Given the description of an element on the screen output the (x, y) to click on. 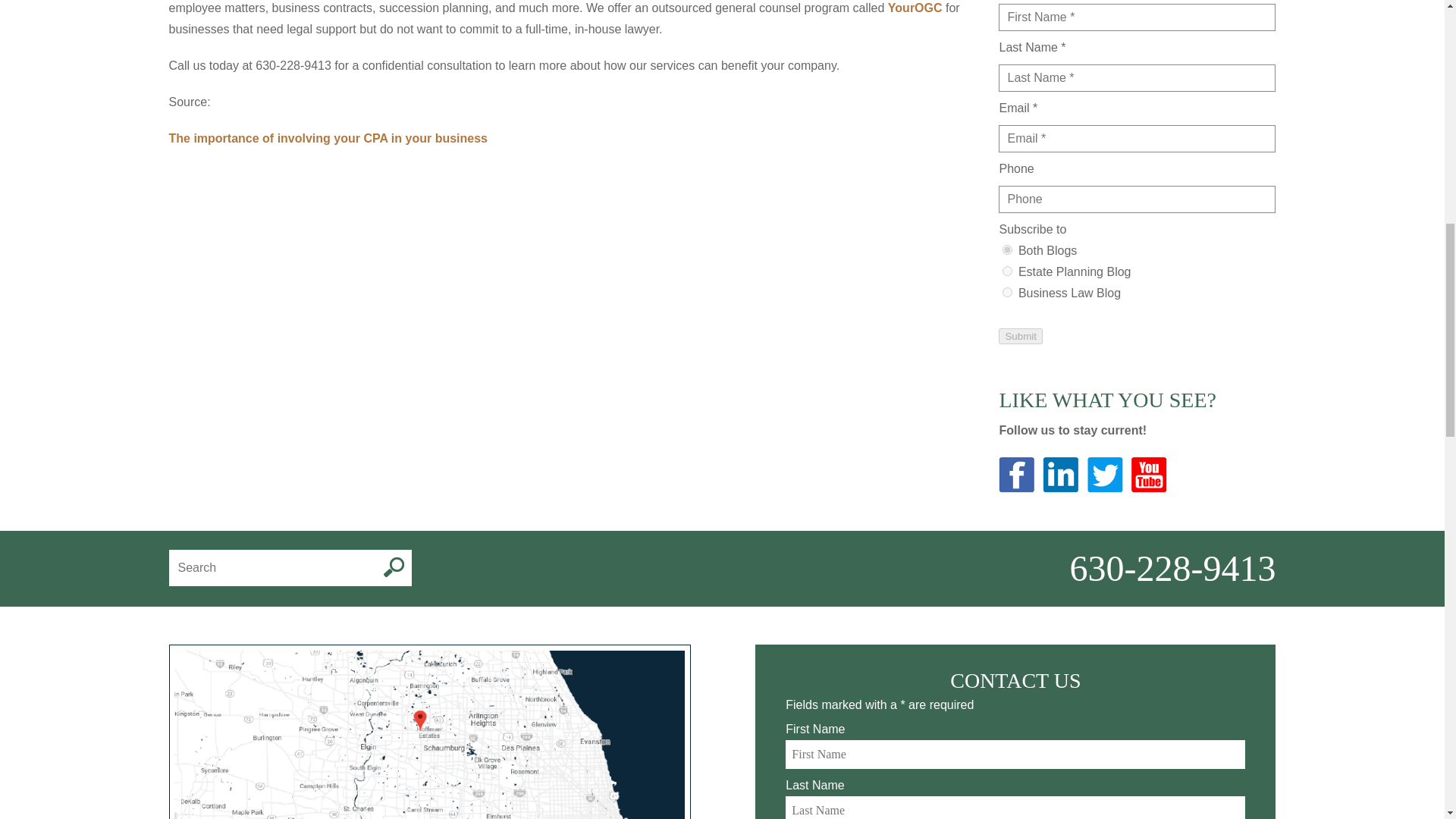
2809 (1007, 292)
2807 (1007, 271)
2805 (1007, 249)
